Given the description of an element on the screen output the (x, y) to click on. 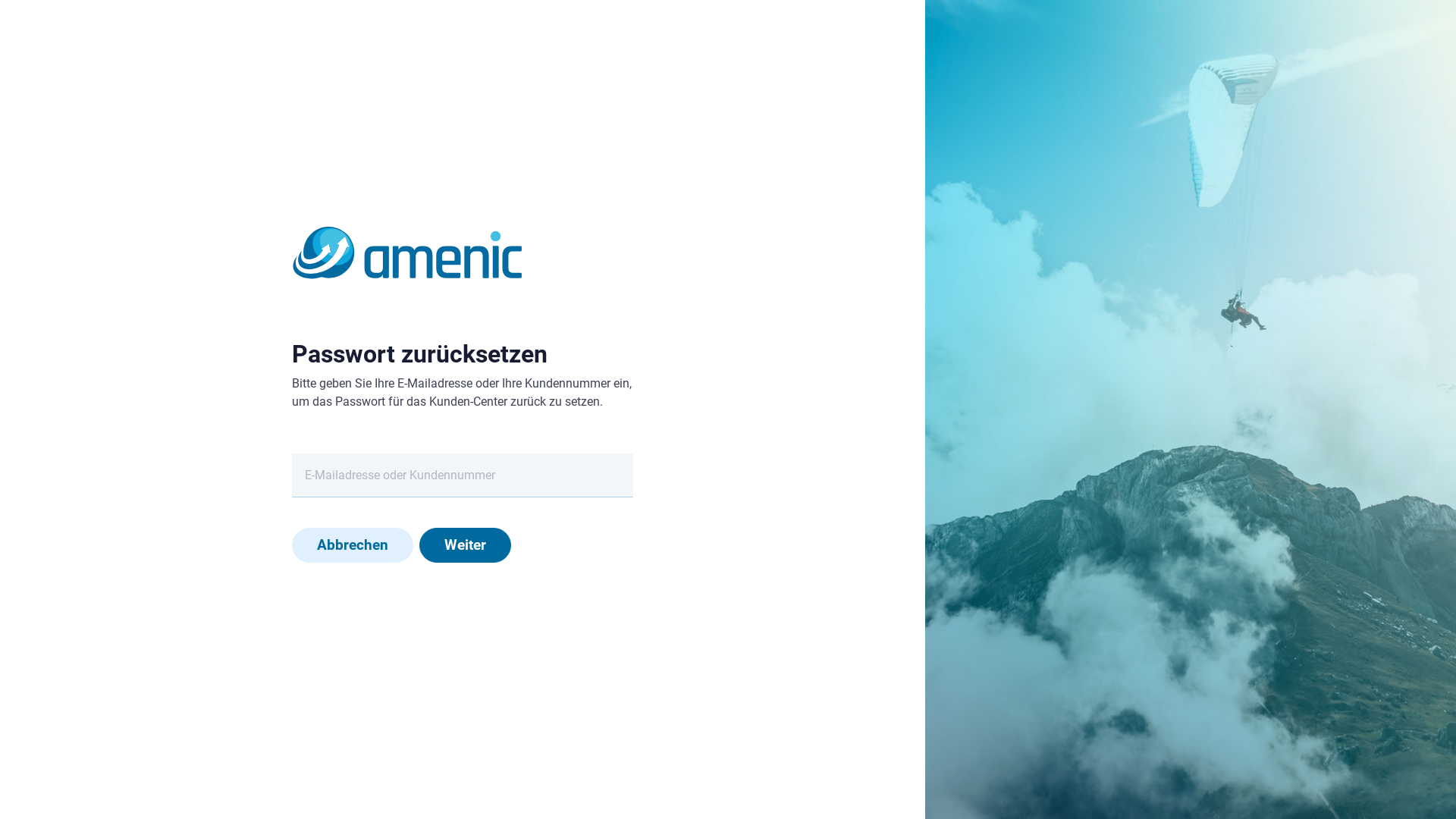
Abbrechen Element type: text (352, 544)
Weiter Element type: text (465, 544)
